Given the description of an element on the screen output the (x, y) to click on. 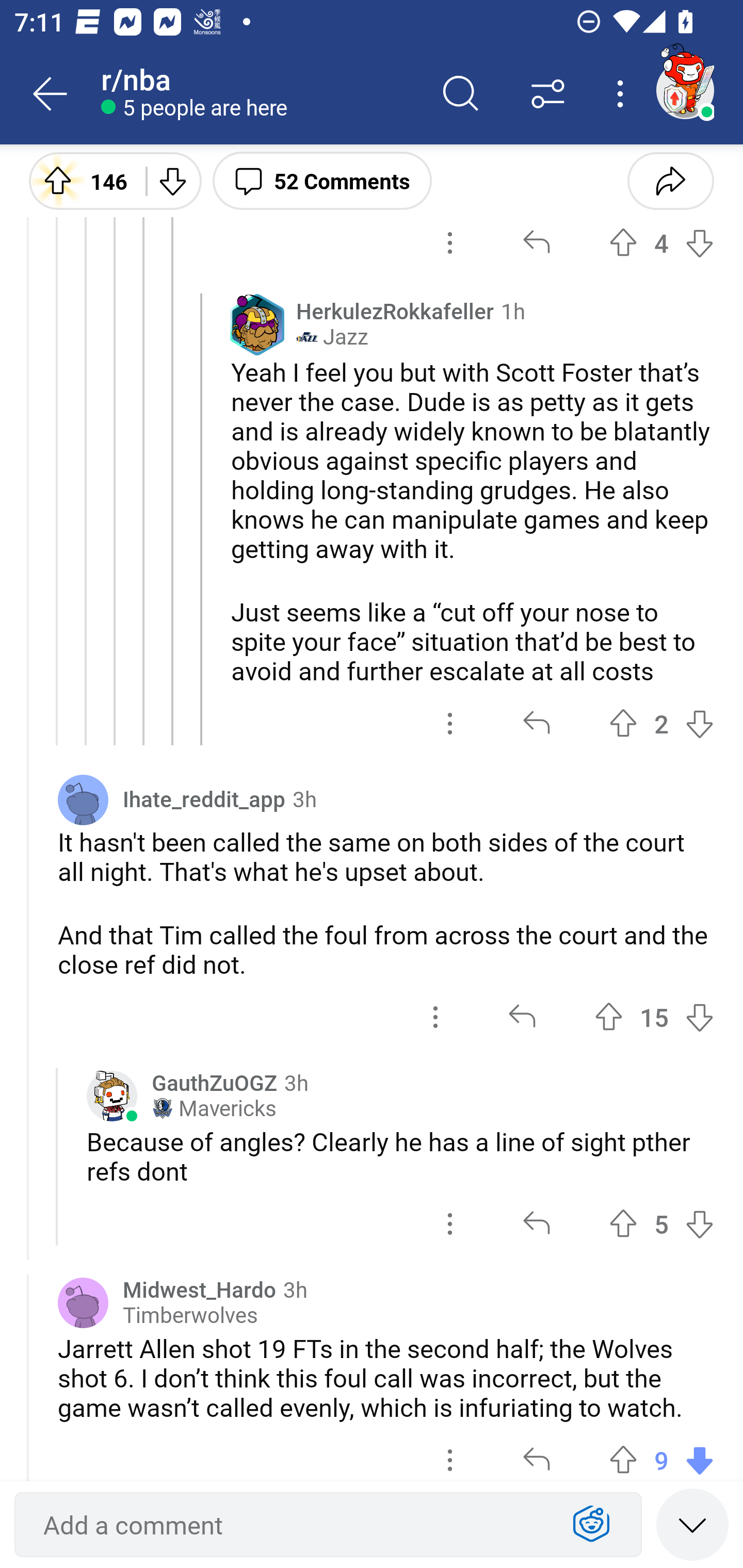
Back (50, 93)
TestAppium002 account (685, 90)
Search comments (460, 93)
Sort comments (547, 93)
More options (623, 93)
r/nba 5 people are here (259, 93)
Upvote 146 (79, 180)
Downvote (171, 180)
52 Comments (321, 180)
Share (670, 180)
options (449, 242)
Upvote 4 4 votes Downvote (661, 242)
￼ Jazz (332, 336)
options (449, 723)
Upvote 2 2 votes Downvote (661, 723)
Avatar (82, 799)
options (435, 1017)
Upvote 15 15 votes Downvote (654, 1017)
Custom avatar (111, 1095)
￼ Mavericks (214, 1108)
options (449, 1224)
Upvote 5 5 votes Downvote (661, 1224)
Avatar (82, 1302)
Timberwolves (190, 1315)
options (449, 1452)
Upvote 9 9 votes Downvote (661, 1452)
Speed read (692, 1524)
Add a comment (291, 1524)
Show Expressions (590, 1524)
